Given the description of an element on the screen output the (x, y) to click on. 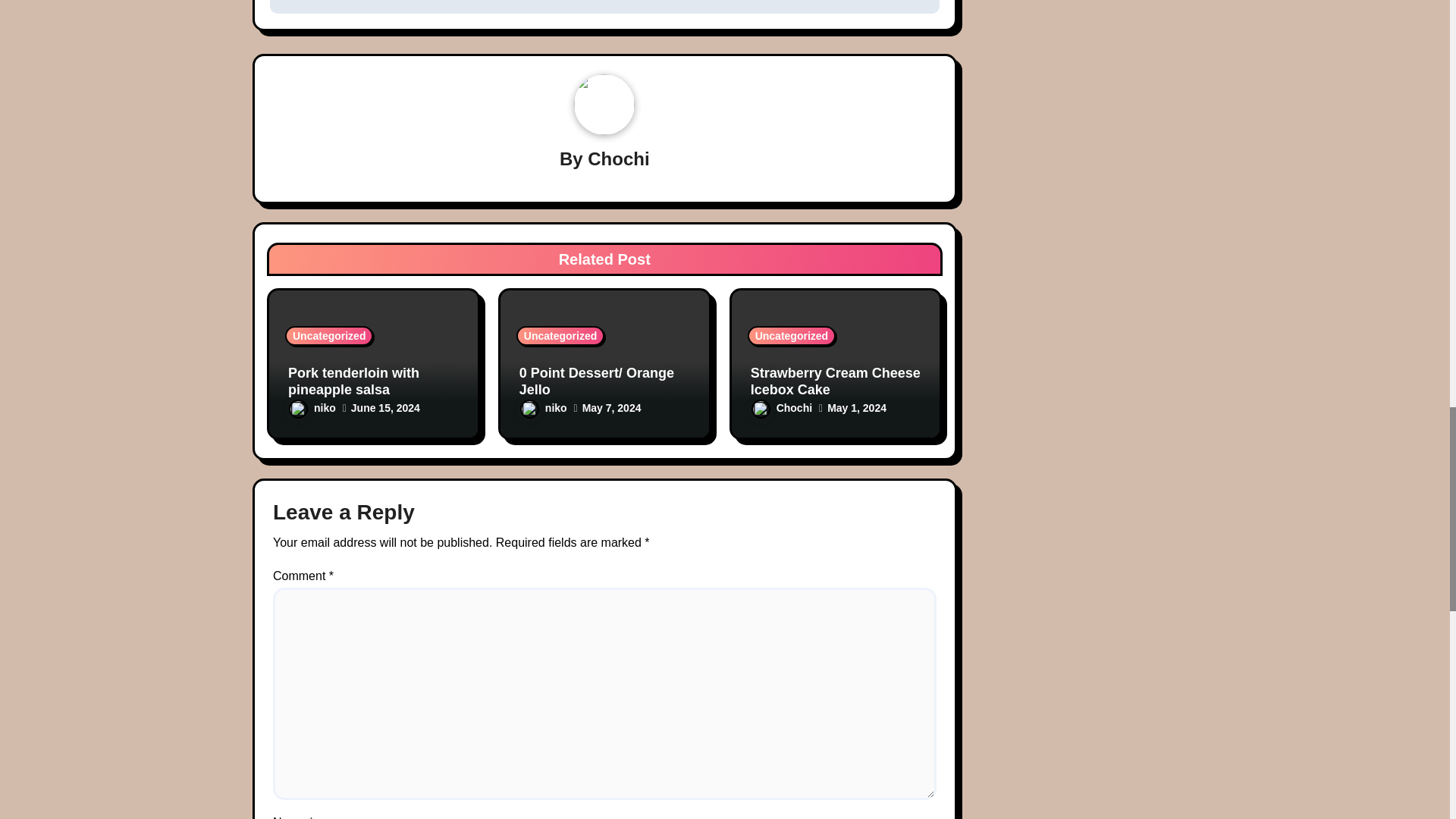
Uncategorized (328, 335)
Pork tenderloin with pineapple salsa (353, 381)
Uncategorized (560, 335)
niko (543, 408)
Permalink to: Pork tenderloin with pineapple salsa (353, 381)
May 7, 2024 (612, 408)
June 15, 2024 (385, 408)
Chochi (618, 158)
niko (312, 408)
